Given the description of an element on the screen output the (x, y) to click on. 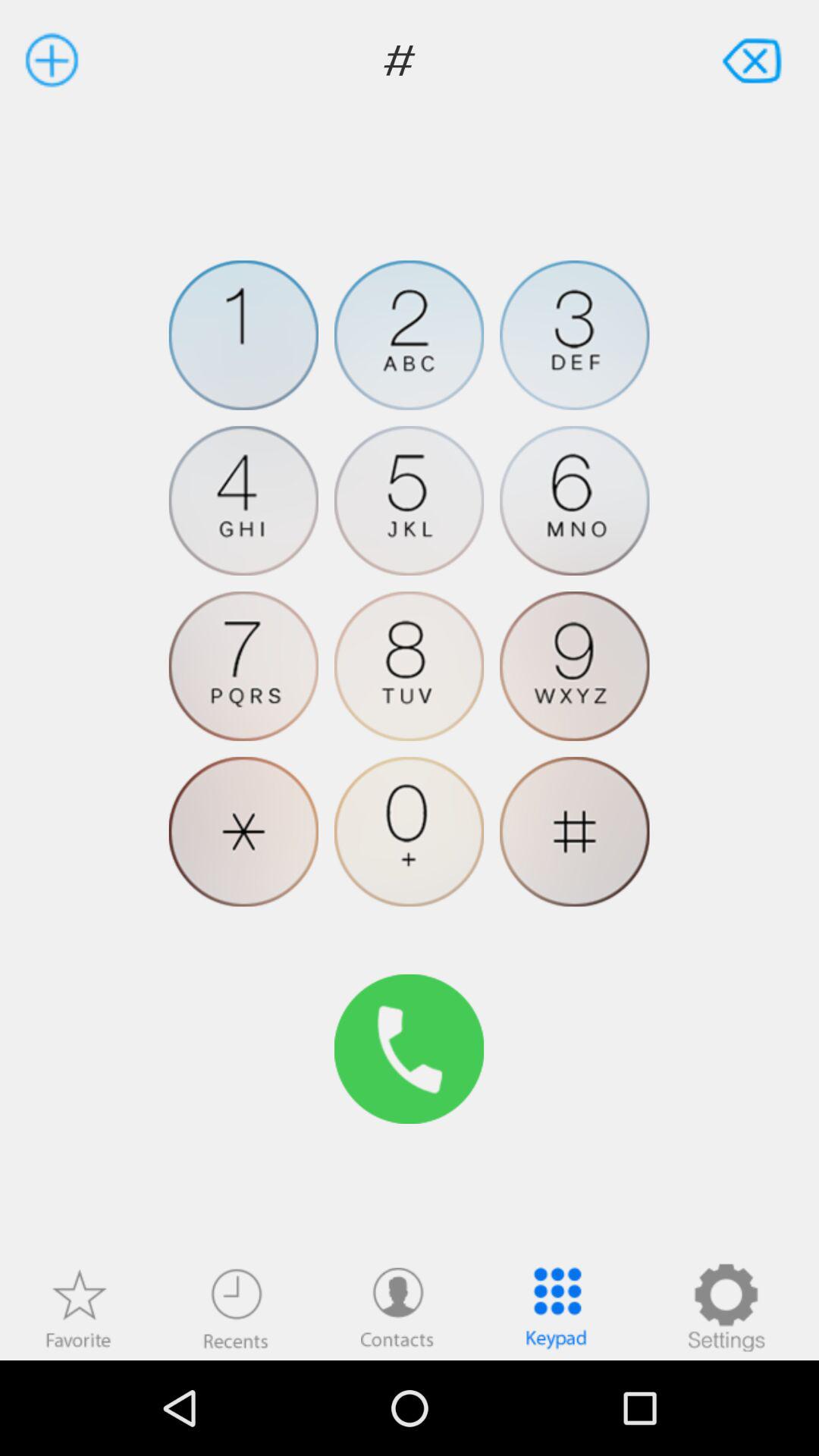
dial asterisk (243, 831)
